Given the description of an element on the screen output the (x, y) to click on. 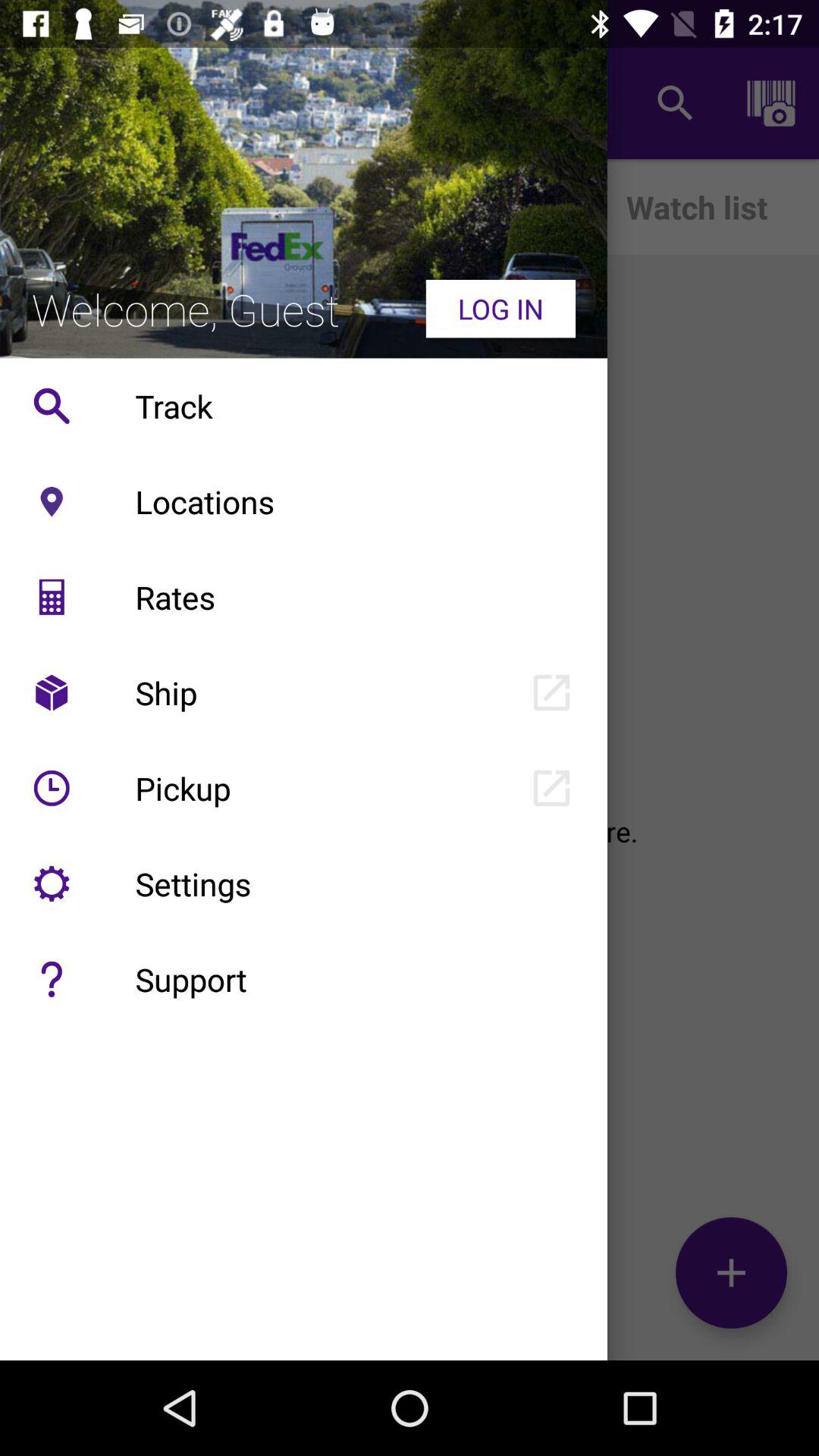
click the setting icon left to settings at the bottom of the page (51, 883)
click on log in button shown right to guest (500, 308)
click on icon right to ship (551, 692)
icon right to the text ship (551, 692)
click the support option from the bottom (51, 978)
click on icon on the left side of rates (51, 596)
click on the icon which is beside pickup (51, 788)
